Given the description of an element on the screen output the (x, y) to click on. 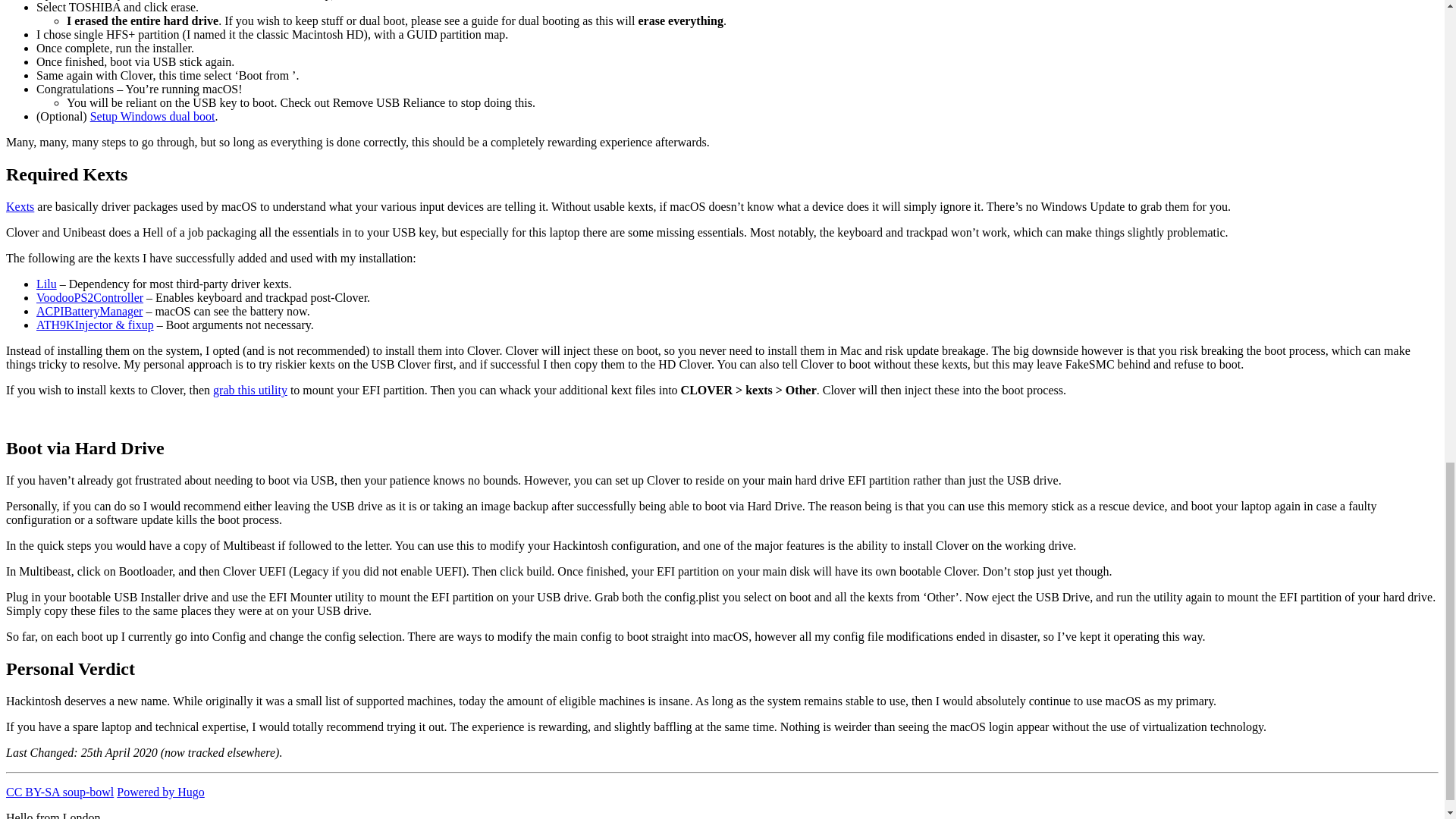
Powered by Hugo (160, 791)
VoodooPS2Controller (89, 297)
Lilu (46, 283)
Setup Windows dual boot (152, 115)
Kexts (19, 205)
CC BY-SA soup-bowl (59, 791)
grab this utility (249, 390)
ACPIBatteryManager (89, 310)
